Given the description of an element on the screen output the (x, y) to click on. 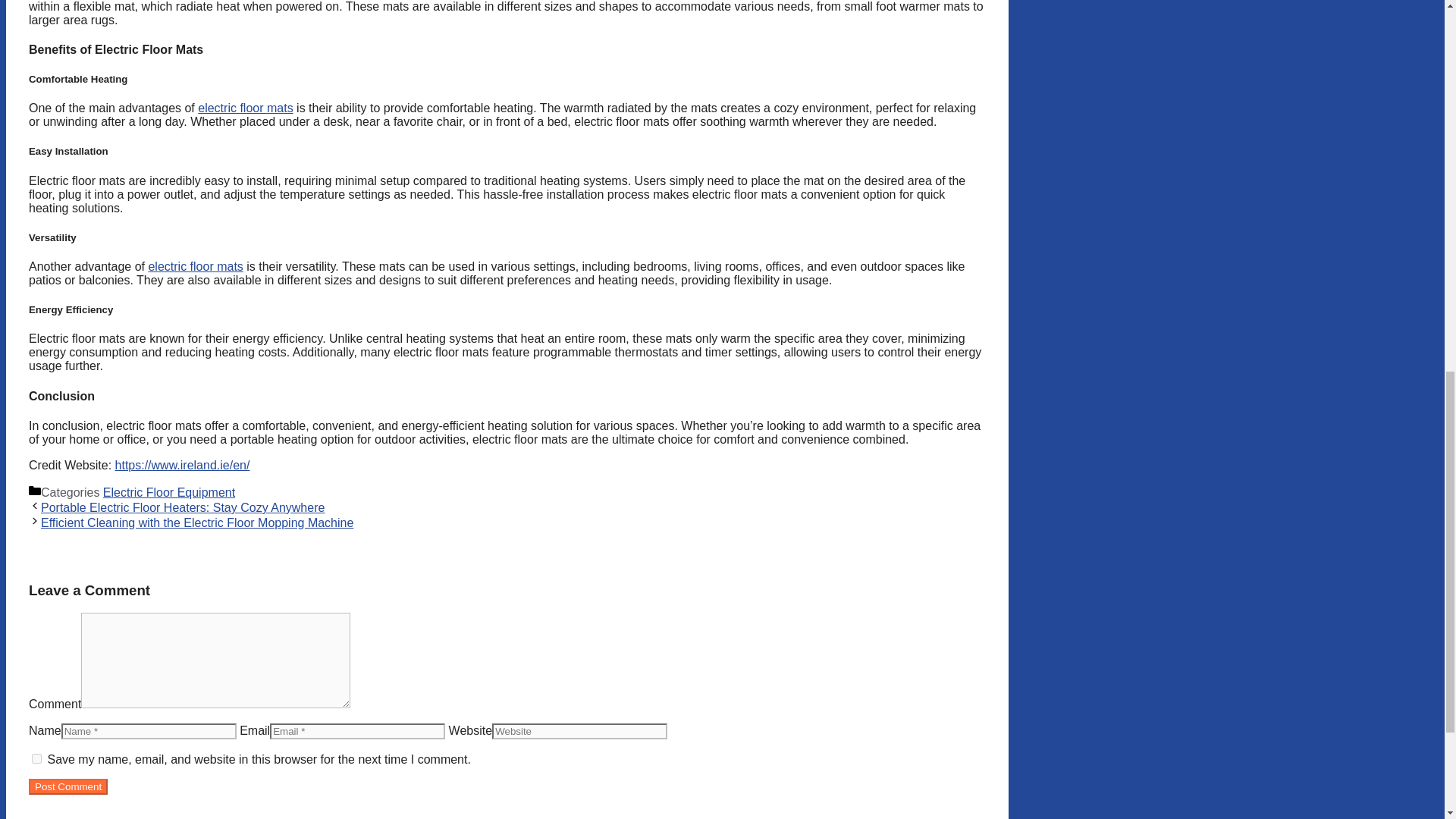
Efficient Cleaning with the Electric Floor Mopping Machine (196, 522)
Post Comment (68, 786)
Electric Floor Equipment (168, 492)
Post Comment (68, 786)
electric floor mats (245, 107)
electric floor mats (195, 266)
yes (37, 758)
Portable Electric Floor Heaters: Stay Cozy Anywhere (182, 507)
